Given the description of an element on the screen output the (x, y) to click on. 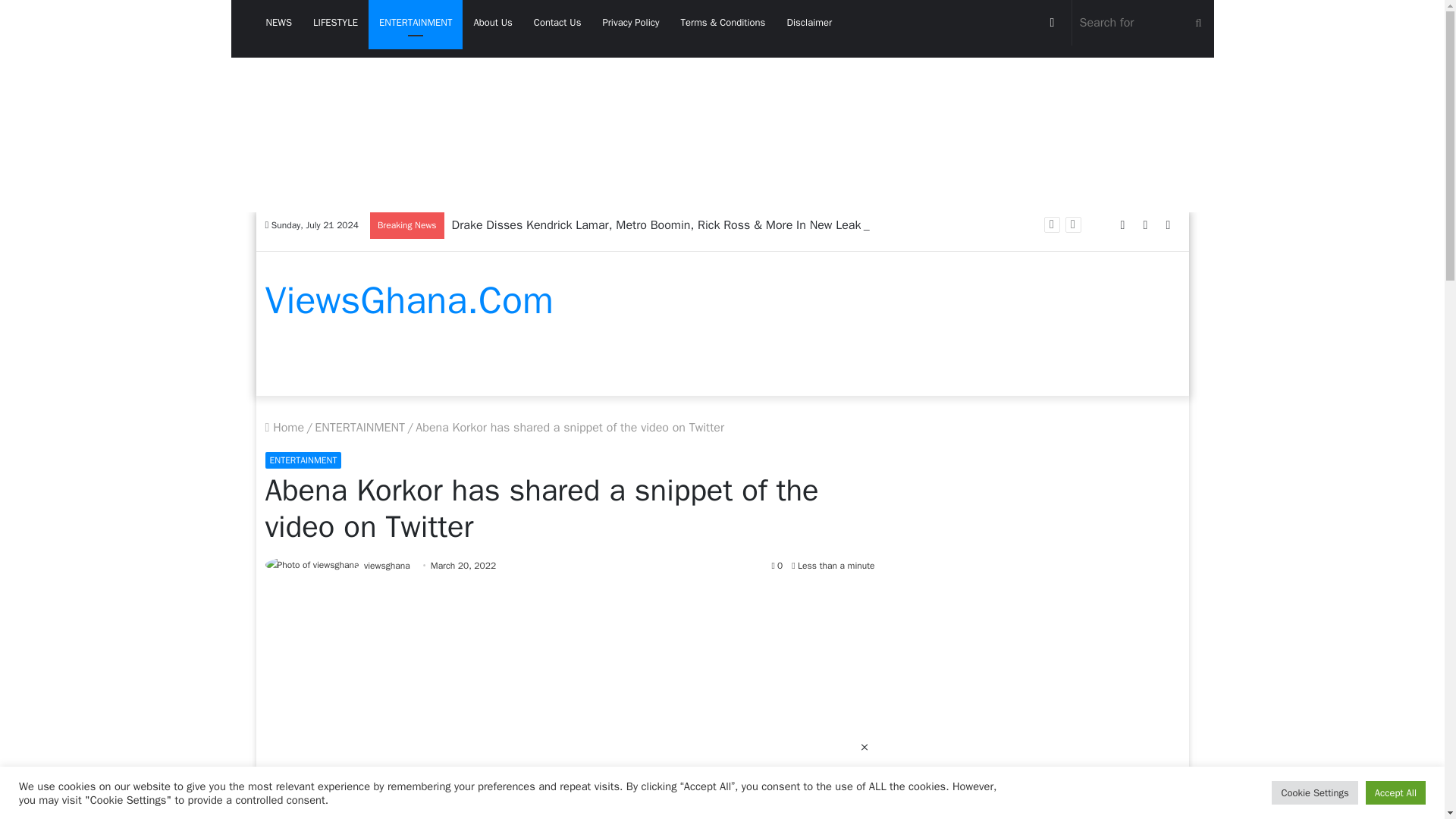
ViewsGhana.Com (408, 300)
Disclaimer (809, 22)
About Us (492, 22)
Home (284, 427)
Contact Us (557, 22)
ViewsGhana.Com (408, 300)
ENTERTAINMENT (415, 22)
Advertisement (570, 695)
ENTERTAINMENT (303, 460)
Privacy Policy (630, 22)
ENTERTAINMENT (359, 427)
Search for (1142, 22)
NEWS (278, 22)
viewsghana (387, 565)
